Given the description of an element on the screen output the (x, y) to click on. 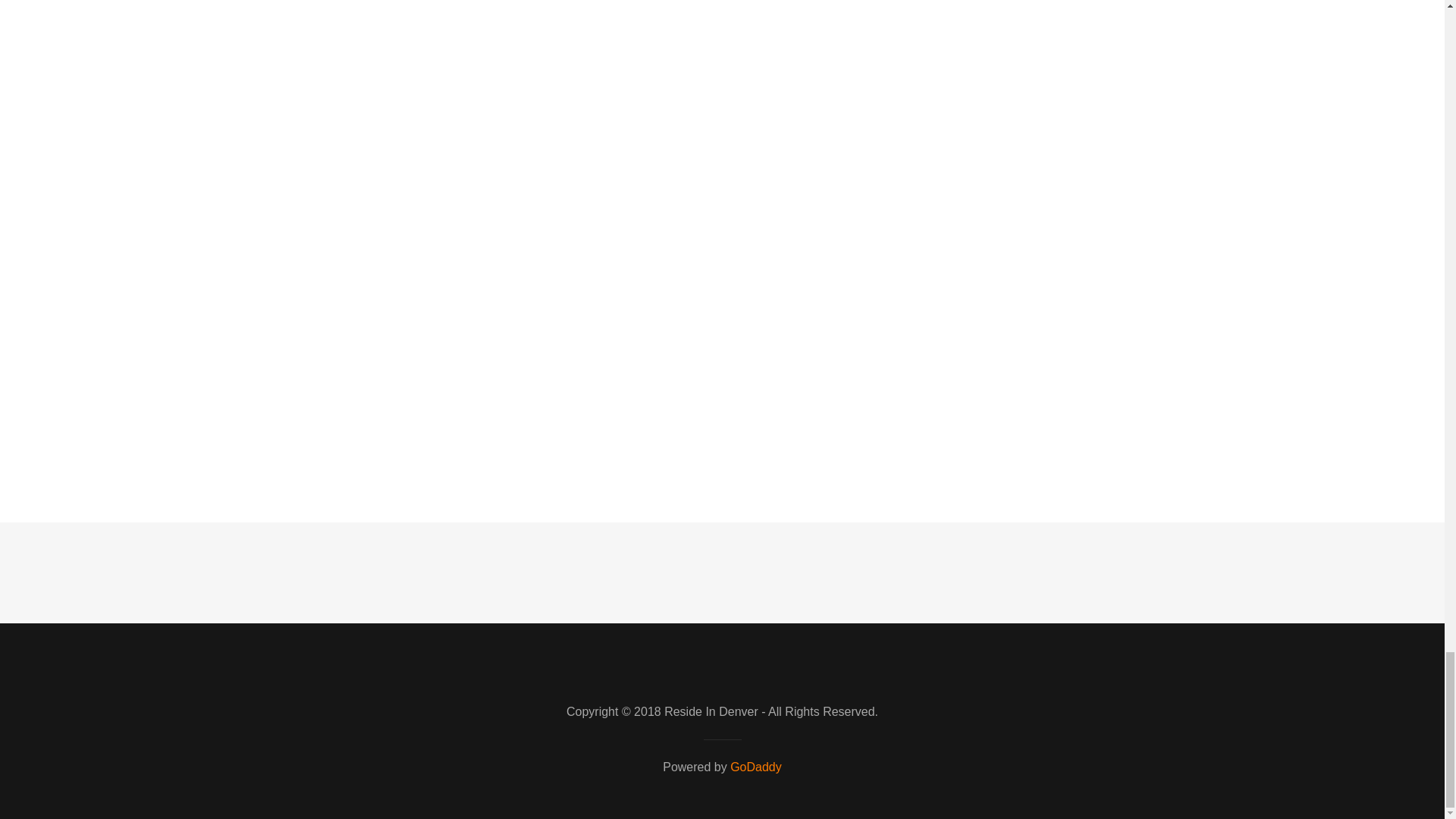
GoDaddy (755, 766)
